Given the description of an element on the screen output the (x, y) to click on. 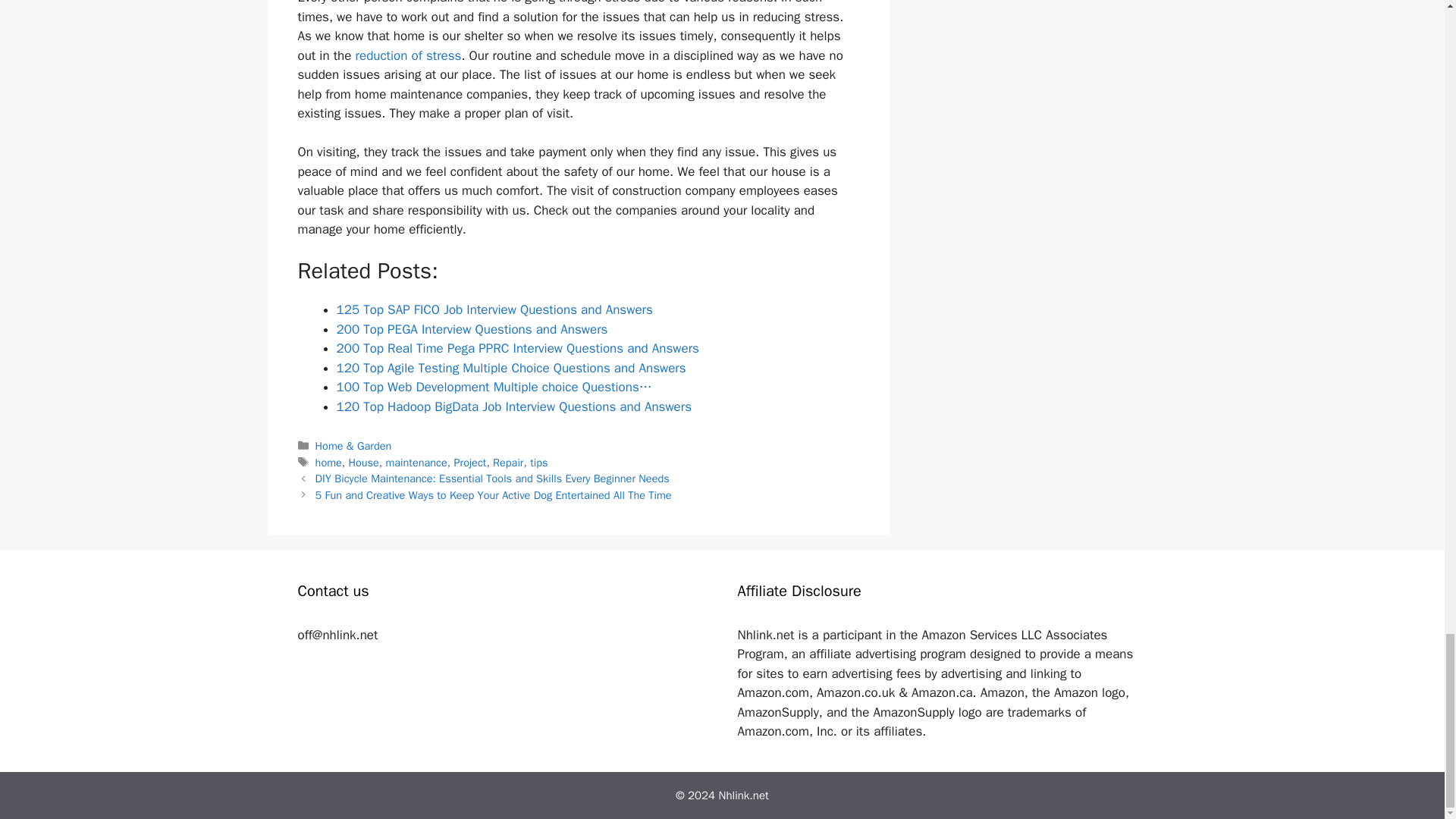
125 Top SAP FICO Job Interview Questions and Answers (494, 309)
reduction of stress (408, 55)
maintenance (415, 462)
200 Top PEGA Interview Questions and Answers (472, 329)
120 Top Agile Testing Multiple Choice Questions and Answers (510, 367)
tips (538, 462)
200 Top Real Time Pega PPRC Interview Questions and Answers (517, 348)
House (362, 462)
home (328, 462)
Project (469, 462)
Repair (507, 462)
120 Top Hadoop BigData Job Interview Questions and Answers (514, 406)
